Given the description of an element on the screen output the (x, y) to click on. 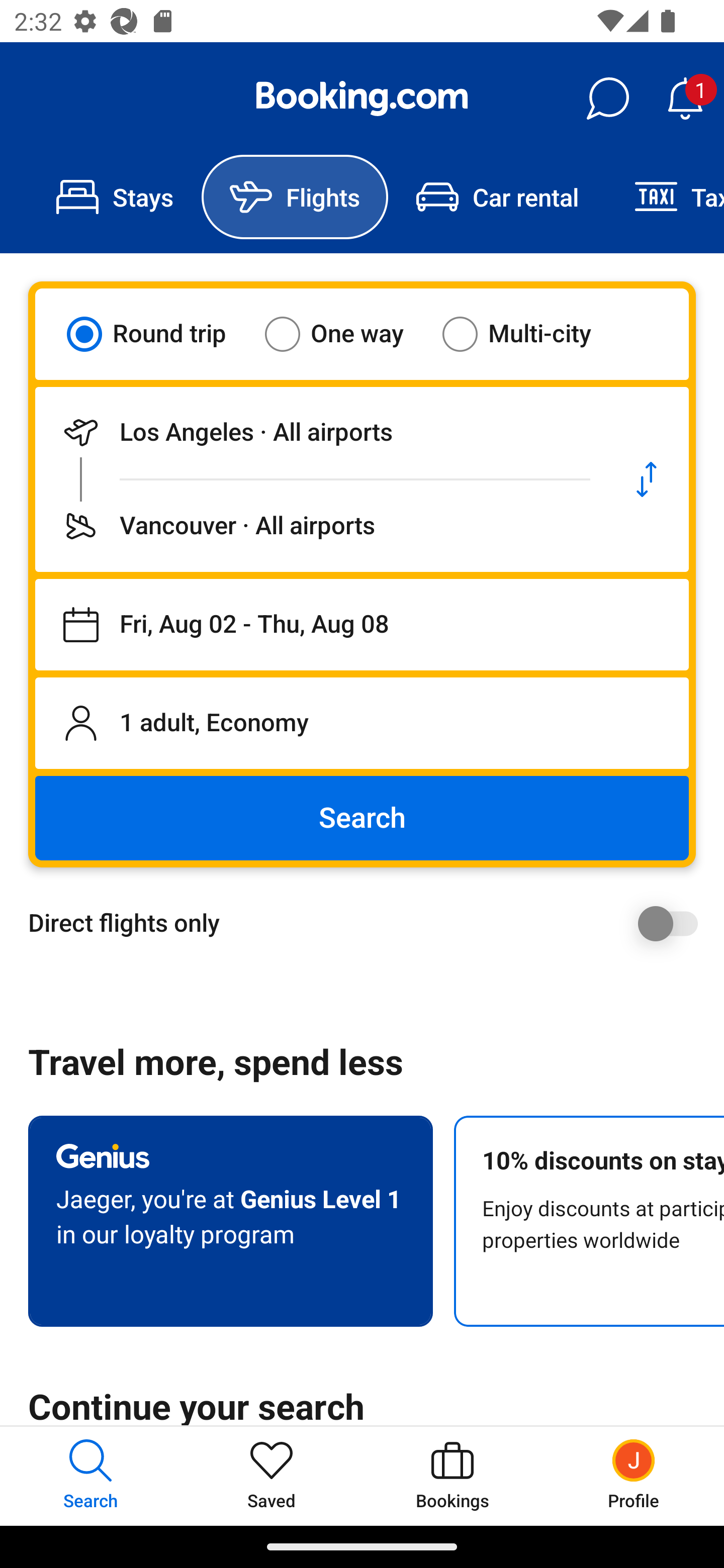
Messages (607, 98)
Notifications (685, 98)
Stays (114, 197)
Flights (294, 197)
Car rental (497, 197)
Taxi (665, 197)
One way (346, 333)
Multi-city (528, 333)
Departing from Los Angeles · All airports (319, 432)
Swap departure location and destination (646, 479)
Flying to Vancouver · All airports (319, 525)
Departing on Fri, Aug 02, returning on Thu, Aug 08 (361, 624)
1 adult, Economy (361, 722)
Search (361, 818)
Direct flights only (369, 923)
Saved (271, 1475)
Bookings (452, 1475)
Profile (633, 1475)
